Given the description of an element on the screen output the (x, y) to click on. 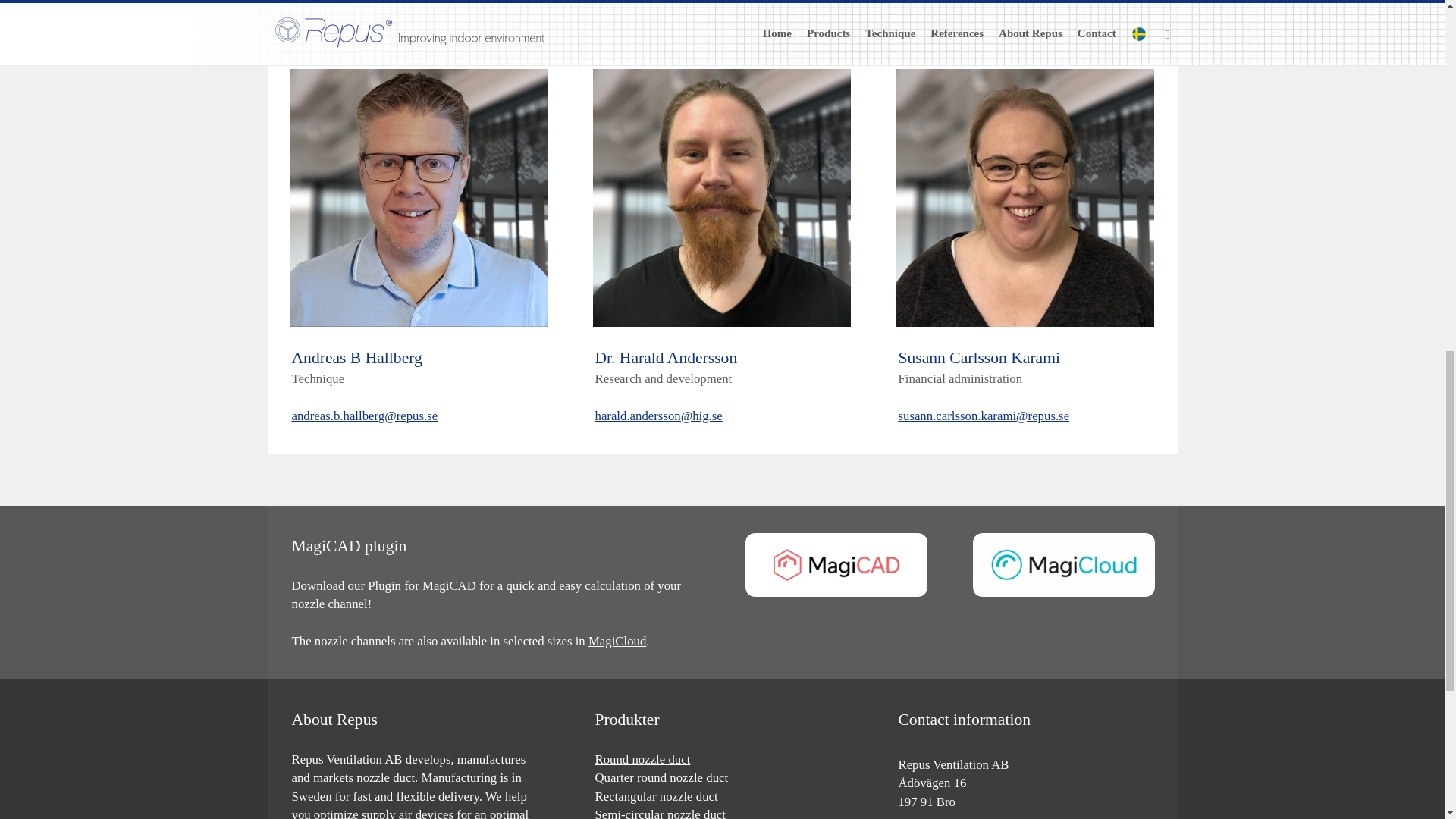
MagiCloud (617, 640)
Semi-circular nozzle duct (659, 813)
Rectangular nozzle duct (655, 796)
Round nozzle duct (642, 759)
Quarter round nozzle duct (661, 777)
